Given the description of an element on the screen output the (x, y) to click on. 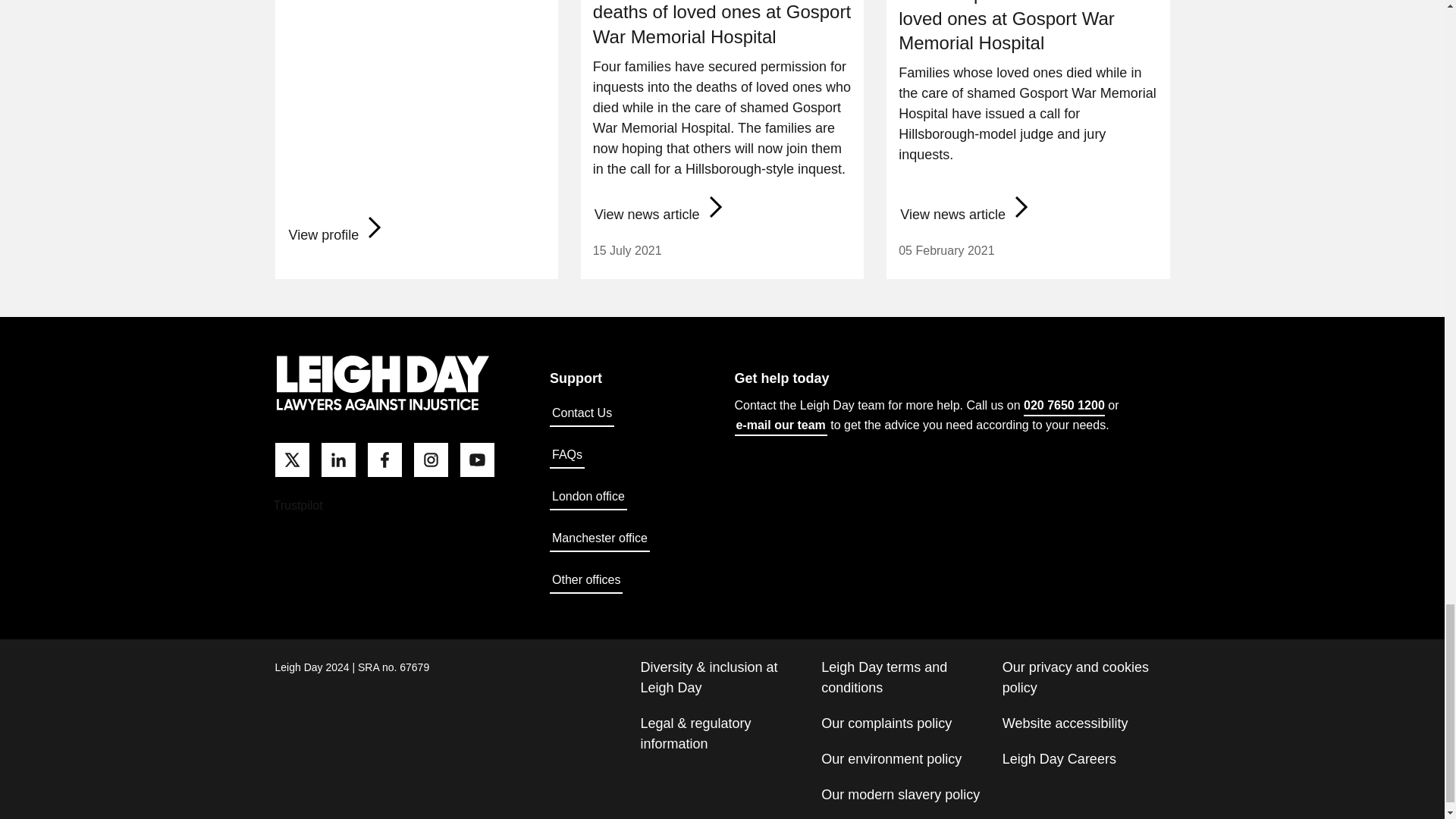
View Emma Jones (337, 234)
